Given the description of an element on the screen output the (x, y) to click on. 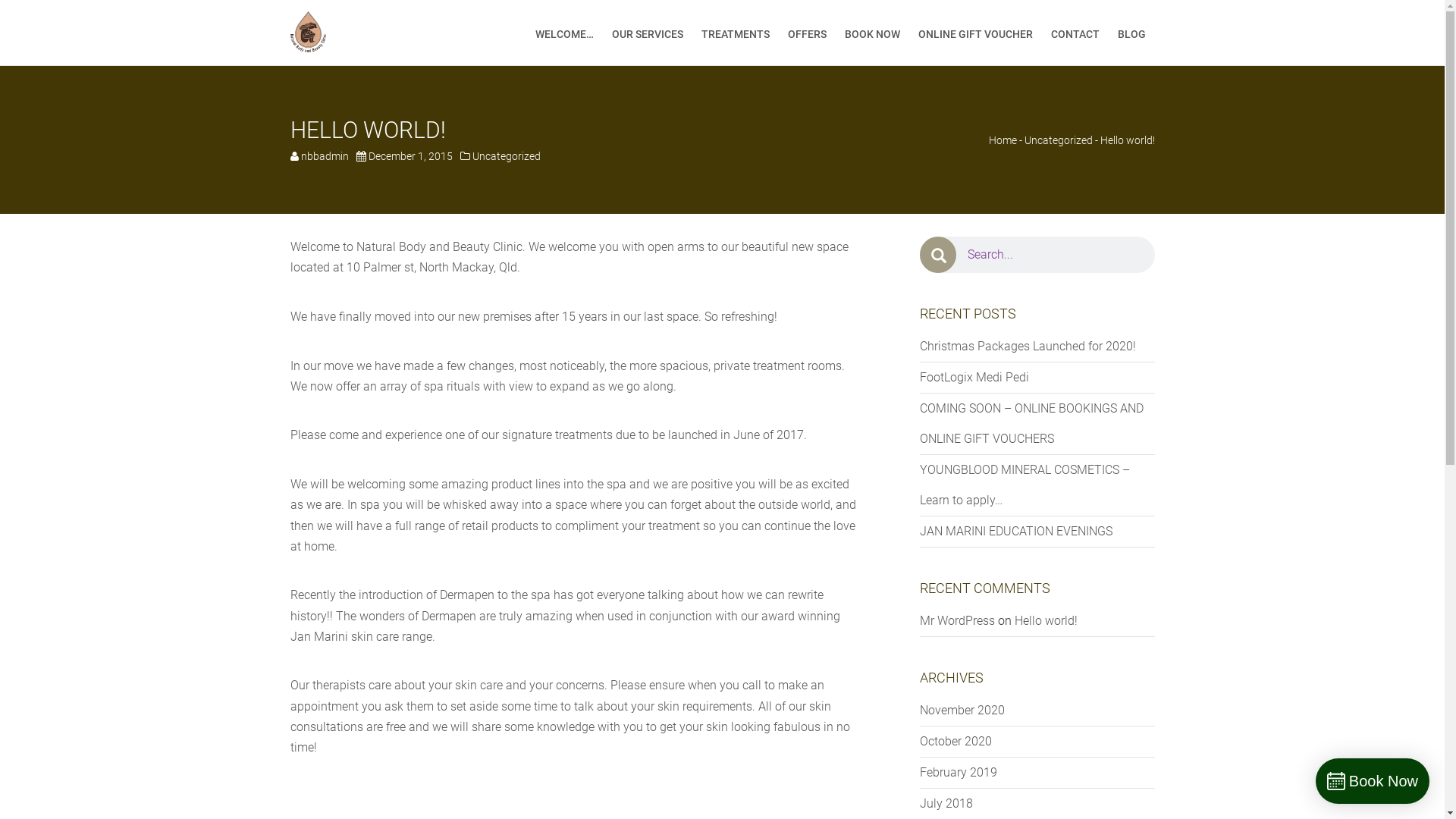
February 2019 Element type: text (957, 772)
JAN MARINI EDUCATION EVENINGS Element type: text (1015, 531)
Mr WordPress Element type: text (956, 620)
OFFERS Element type: text (806, 32)
TREATMENTS Element type: text (734, 32)
November 2020 Element type: text (961, 709)
October 2020 Element type: text (955, 741)
BLOG Element type: text (1131, 32)
Book Now Element type: text (1372, 780)
Christmas Packages Launched for 2020! Element type: text (1027, 345)
OUR SERVICES Element type: text (646, 32)
nbbadmin Element type: text (324, 156)
July 2018 Element type: text (945, 803)
Home Element type: text (1002, 140)
Uncategorized Element type: text (505, 156)
FootLogix Medi Pedi Element type: text (973, 377)
CONTACT Element type: text (1074, 32)
Hello world! Element type: text (1045, 620)
BOOK NOW Element type: text (872, 32)
ONLINE GIFT VOUCHER Element type: text (974, 32)
